Given the description of an element on the screen output the (x, y) to click on. 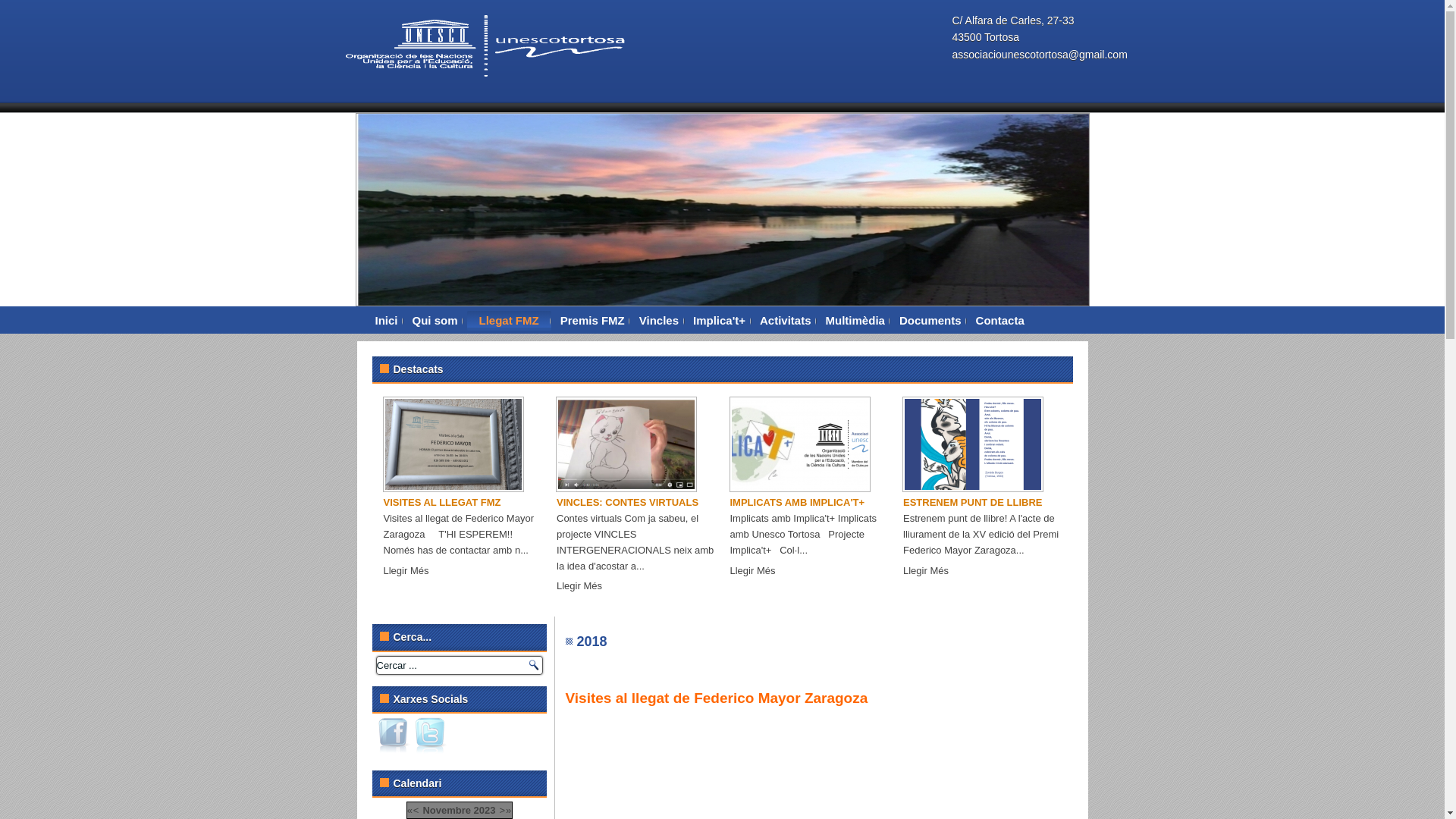
ESTRENEM PUNT DE LLIBRE Element type: text (972, 502)
Novembre Element type: text (446, 809)
Vincles Element type: text (658, 320)
Activitats Element type: text (785, 320)
5 Element type: text (763, 324)
Contacta Element type: text (999, 320)
2 Element type: text (707, 324)
Implica't+ Element type: text (718, 320)
Documents Element type: text (930, 320)
Vincles: Contes virtuals Element type: hover (626, 444)
2023 Element type: text (484, 809)
Facebook Element type: hover (394, 735)
IMPLICATS AMB IMPLICA'T+ Element type: text (796, 502)
Qui som Element type: text (435, 320)
Inici Element type: text (386, 320)
Visites al llegat FMZ Element type: hover (453, 444)
Twitter Element type: hover (430, 735)
VISITES AL LLEGAT FMZ Element type: text (442, 502)
VINCLES: CONTES VIRTUALS Element type: text (627, 502)
Premis FMZ Element type: text (592, 320)
4 Element type: text (745, 324)
Estrenem punt de llibre Element type: hover (972, 444)
Implicats amb Implica't+ Element type: hover (799, 444)
3 Element type: text (725, 324)
1 Element type: text (687, 324)
Llegat FMZ Element type: text (509, 320)
